Given the description of an element on the screen output the (x, y) to click on. 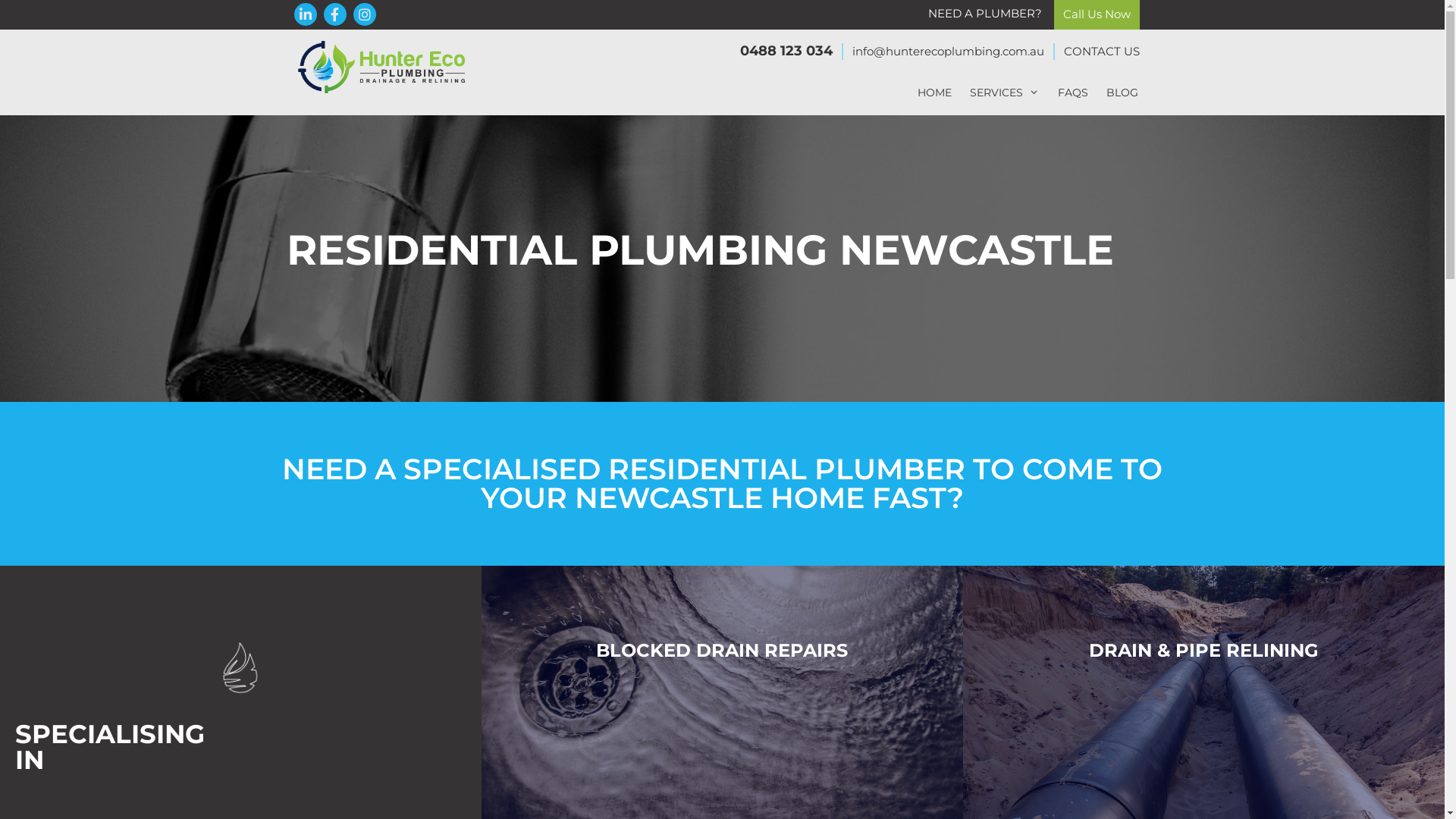
PIPE RELINING Element type: text (1246, 649)
SERVICES Element type: text (1004, 91)
Call Us Now Element type: text (1096, 14)
FAQS Element type: text (1072, 91)
BLOCKED DRAIN Element type: text (677, 649)
DRAIN & Element type: text (1129, 649)
CONTACT US Element type: text (1101, 50)
0488 123 034 Element type: text (786, 50)
BLOG Element type: text (1121, 91)
HOME Element type: text (934, 91)
info@hunterecoplumbing.com.au Element type: text (947, 50)
